Given the description of an element on the screen output the (x, y) to click on. 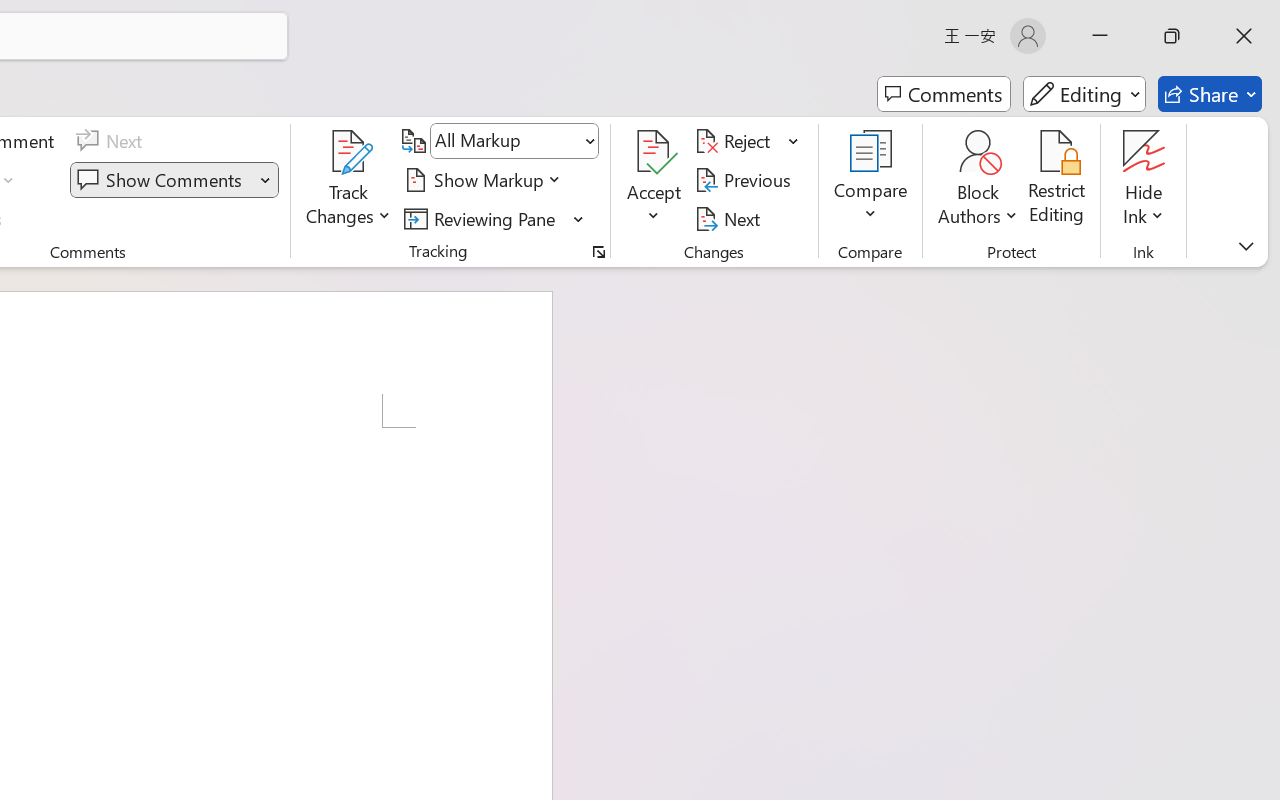
Accept and Move to Next (653, 151)
Track Changes (349, 179)
Hide Ink (1144, 151)
Next (730, 218)
Reject (747, 141)
Show Markup (485, 179)
Previous (745, 179)
Reviewing Pane (483, 218)
Reviewing Pane (494, 218)
Track Changes (349, 151)
Show Comments (174, 179)
